Given the description of an element on the screen output the (x, y) to click on. 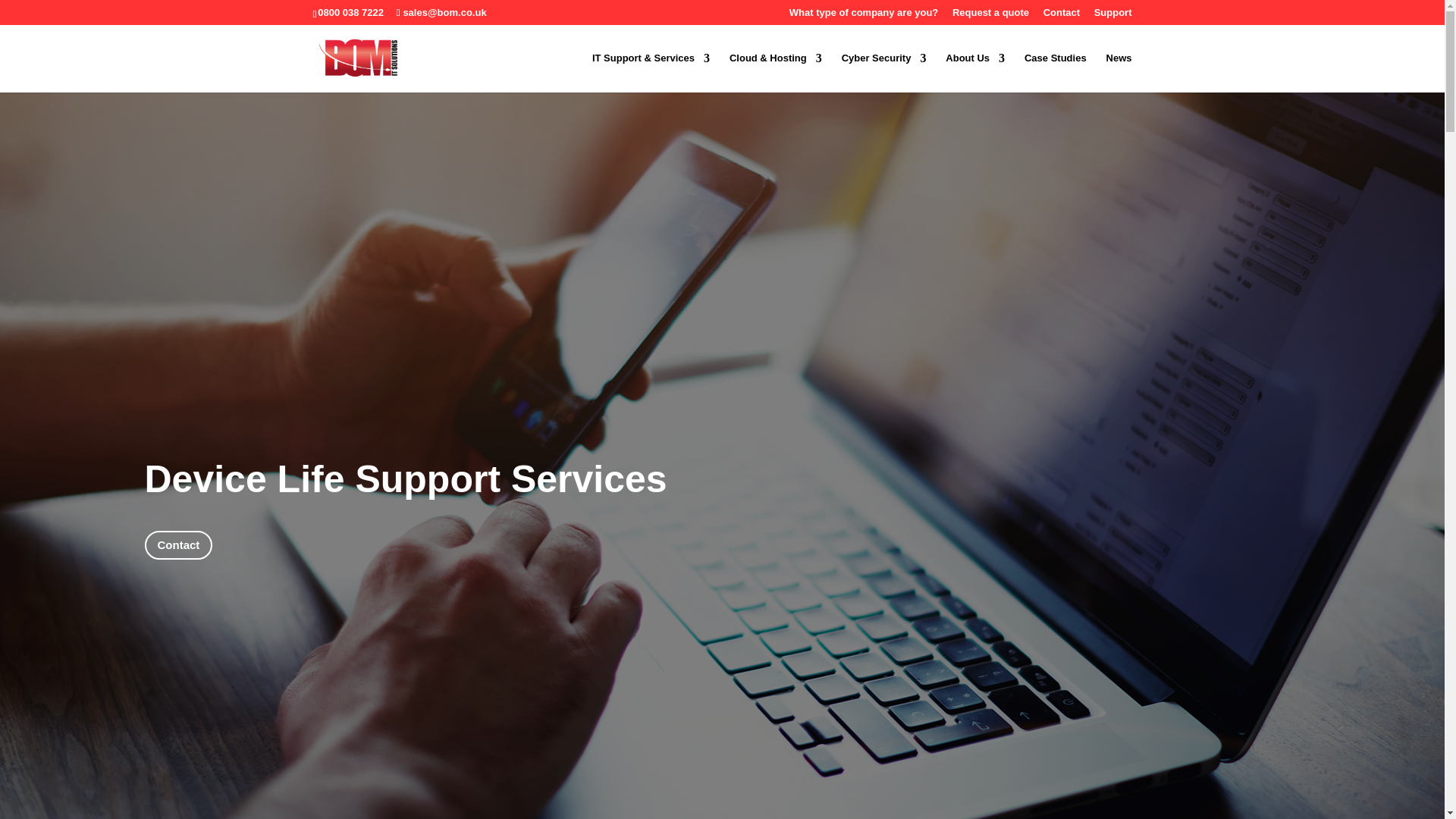
Support (1113, 16)
Request a quote (990, 16)
Contact (1061, 16)
What type of company are you? (863, 16)
Cyber Security (883, 72)
